Given the description of an element on the screen output the (x, y) to click on. 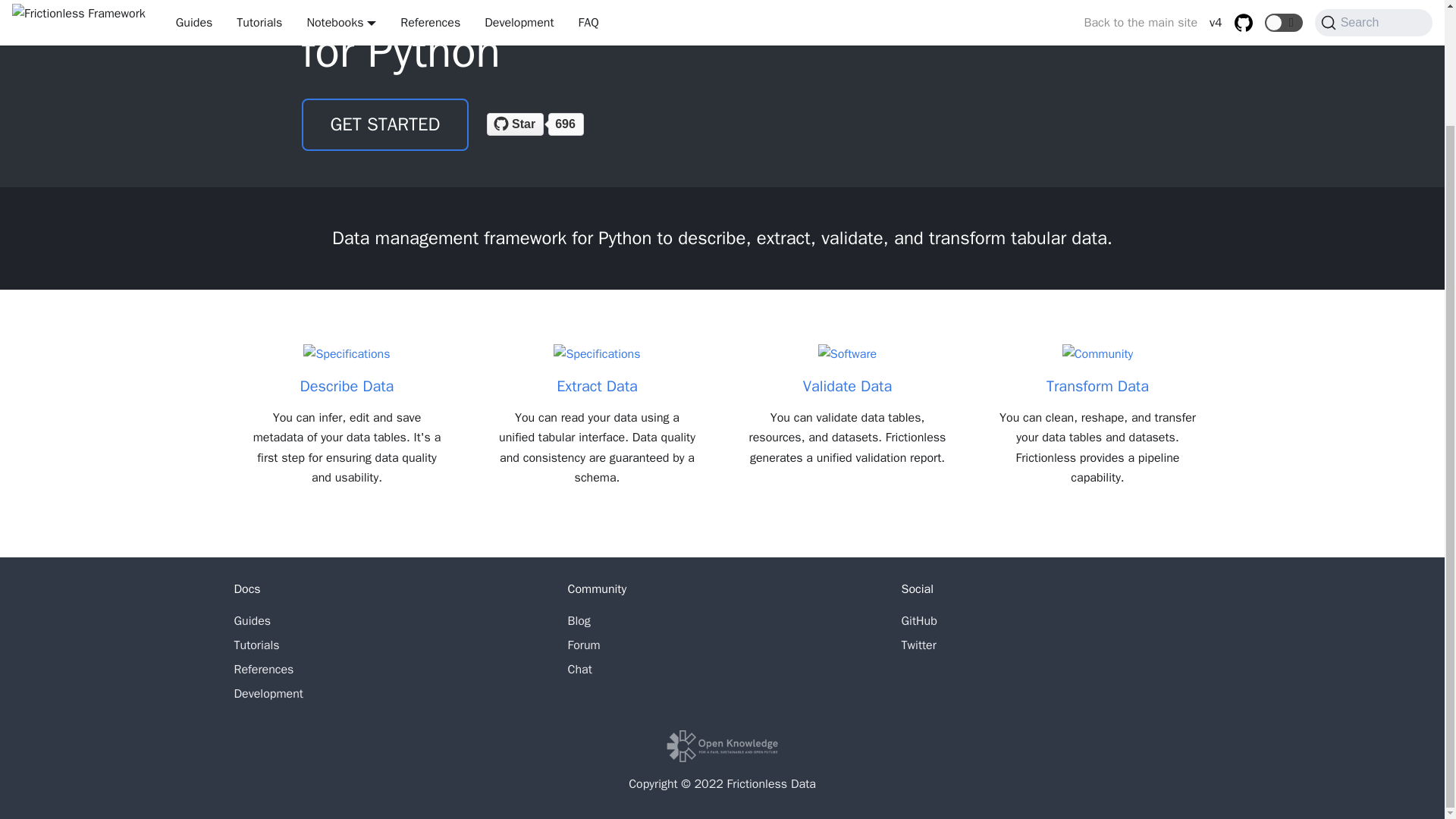
GET STARTED (384, 124)
GitHub Stars (547, 124)
Describe Data (346, 370)
Validate Data (846, 370)
Extract Data (596, 370)
